Given the description of an element on the screen output the (x, y) to click on. 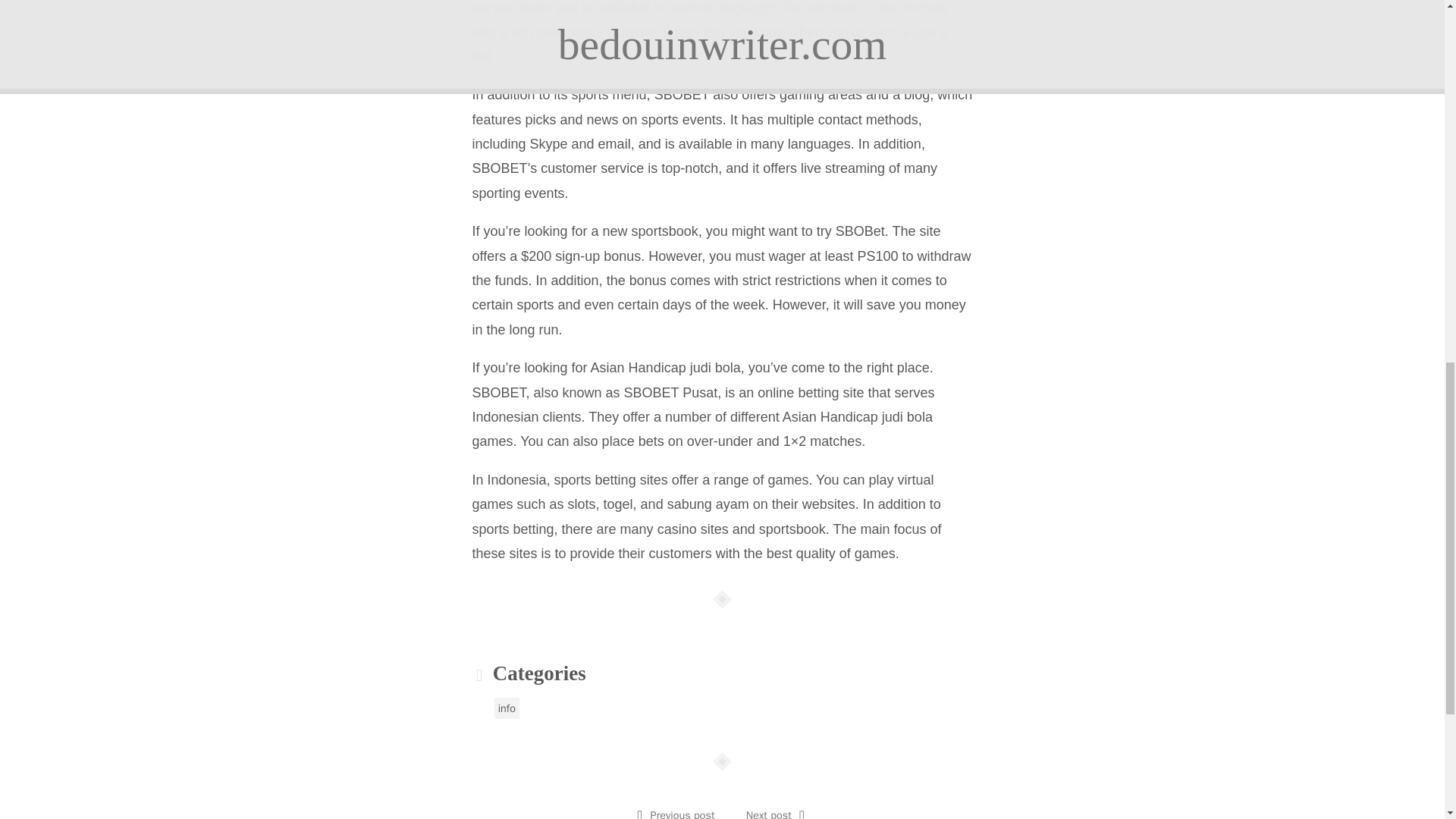
Previous post (682, 813)
Next post (768, 813)
info (507, 708)
